Given the description of an element on the screen output the (x, y) to click on. 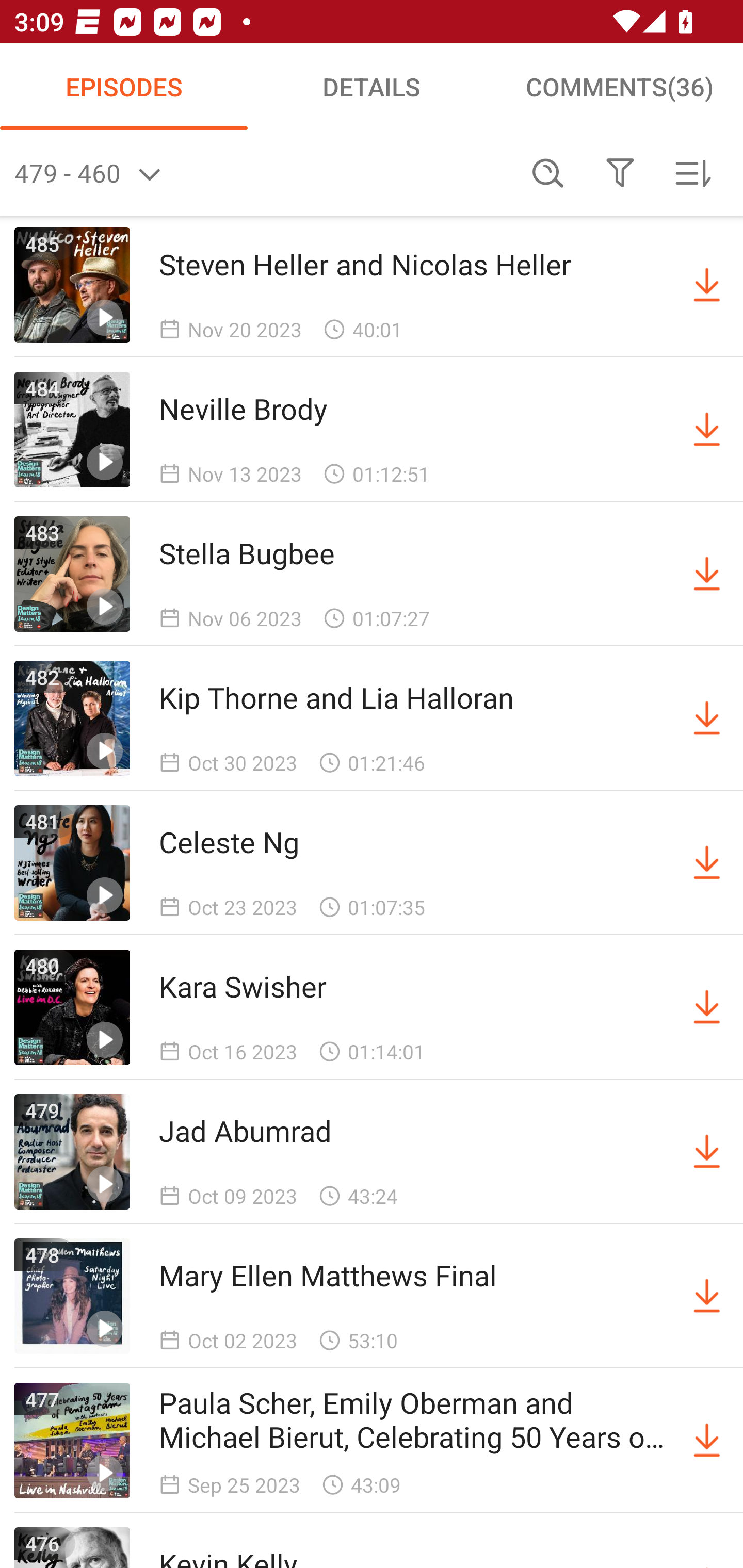
479 - 460  (262, 173)
 Search (547, 173)
 (619, 173)
 Sorted by newest first (692, 173)
Download (706, 285)
Download (706, 429)
Download (706, 573)
Download (706, 718)
Download (706, 862)
Download (706, 1007)
Download (706, 1151)
Download (706, 1295)
Download (706, 1440)
